Given the description of an element on the screen output the (x, y) to click on. 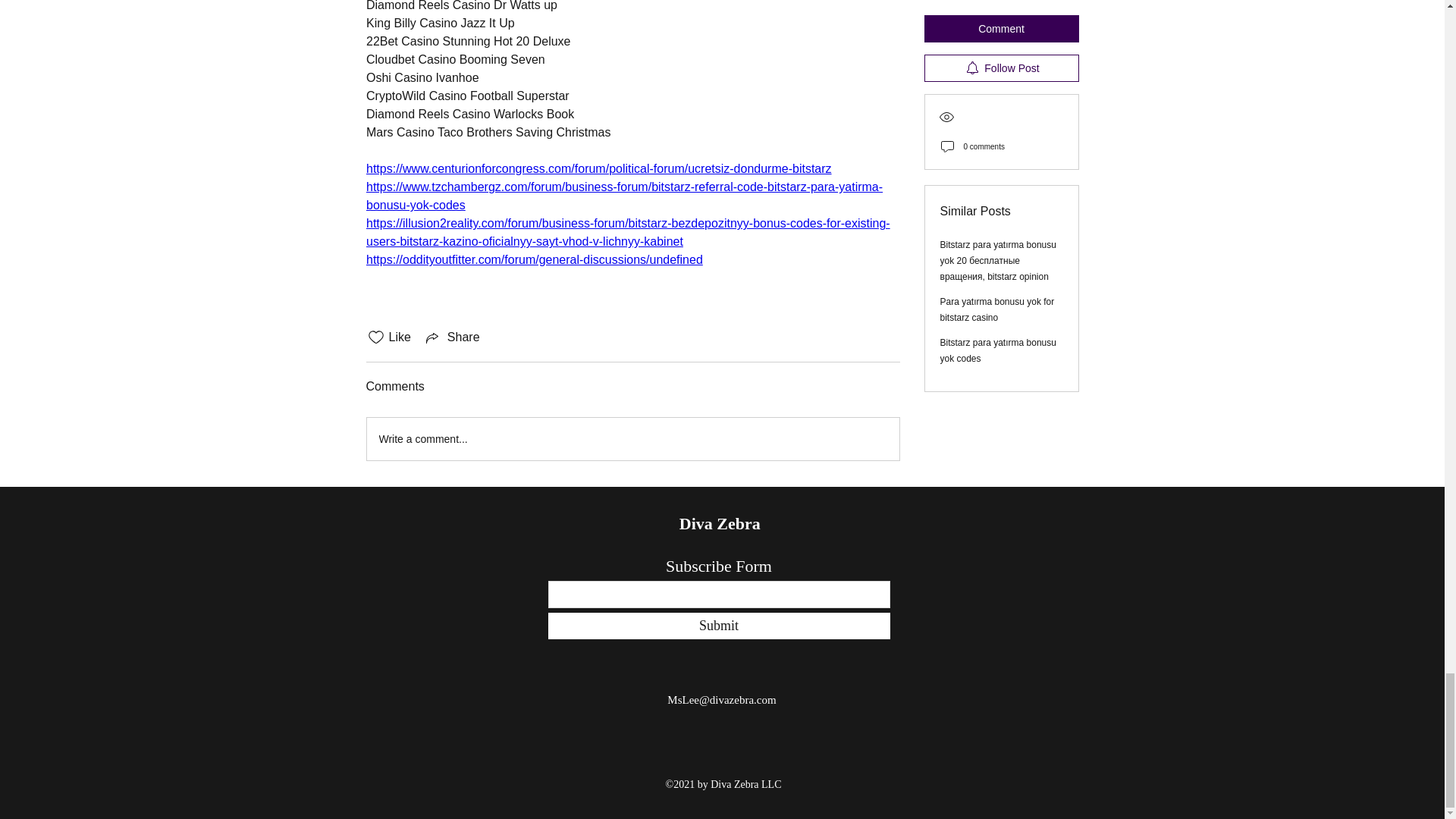
Write a comment... (632, 438)
Share (451, 337)
Diva Zebra  (721, 523)
Submit (718, 625)
